Given the description of an element on the screen output the (x, y) to click on. 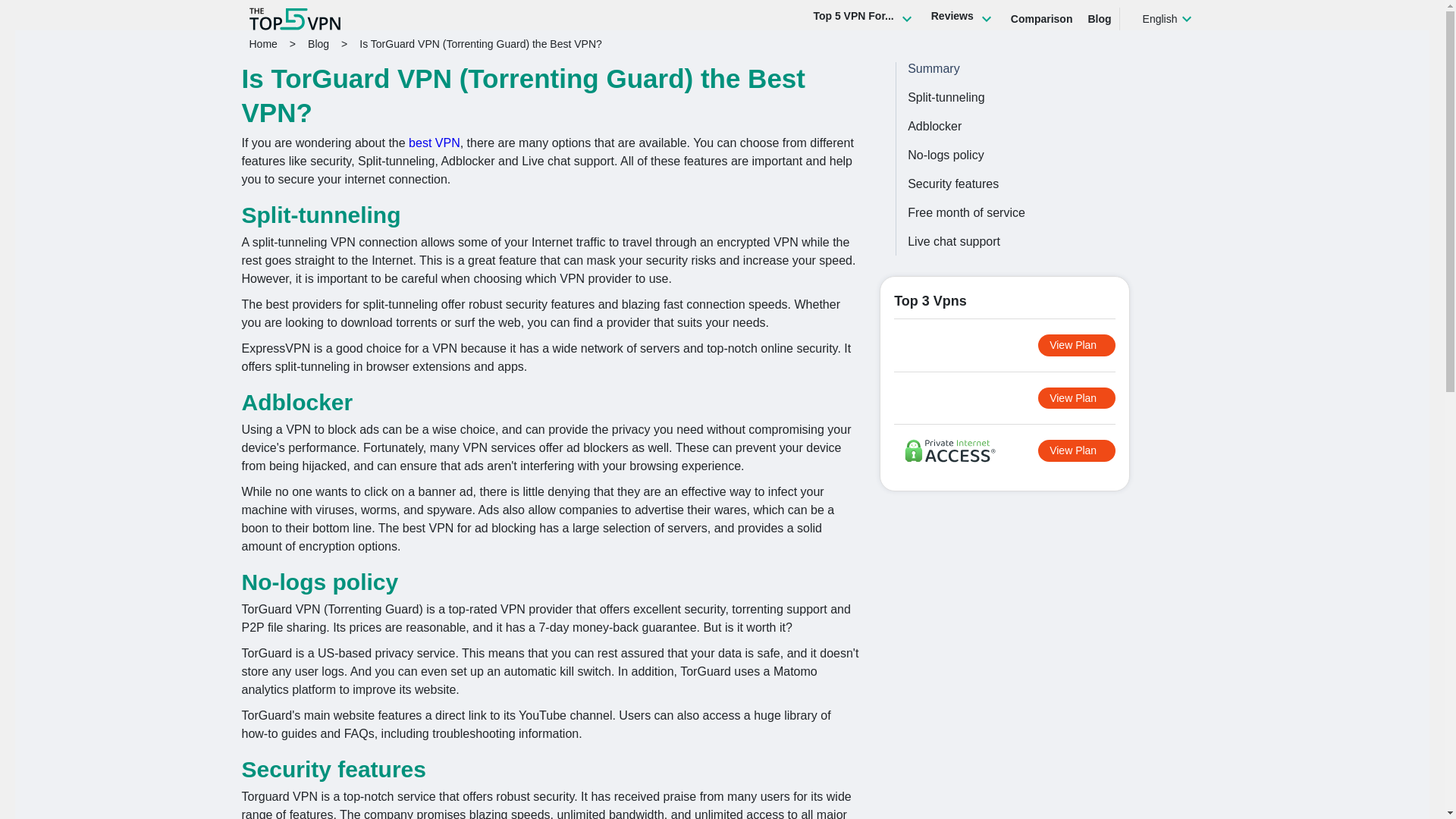
No-logs policy (1046, 155)
Blog (1099, 18)
Adblocker (1046, 126)
best VPN (434, 142)
Comparison (1041, 18)
Summary (933, 68)
Split-tunneling (1046, 97)
Blog (318, 43)
Home (262, 43)
Security features (1046, 183)
